Given the description of an element on the screen output the (x, y) to click on. 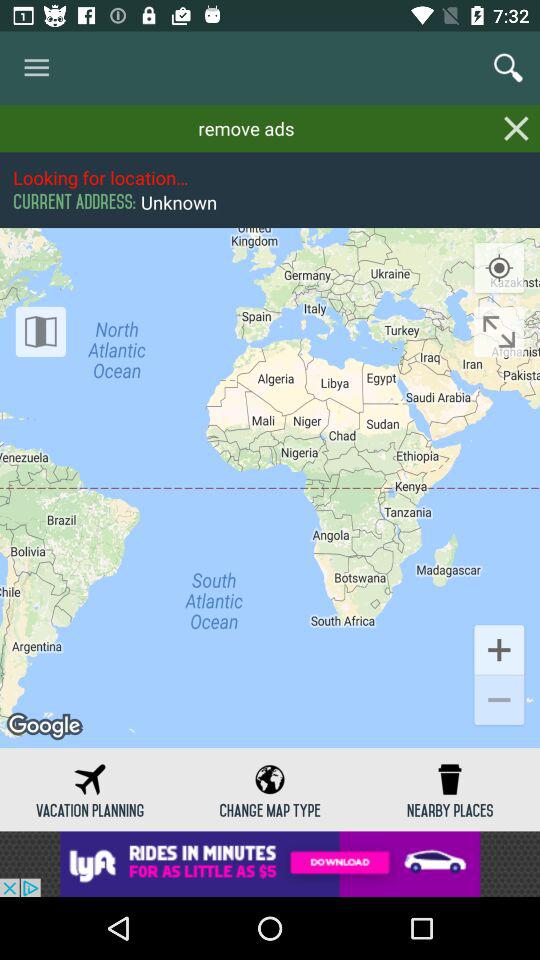
zoom button (499, 331)
